Given the description of an element on the screen output the (x, y) to click on. 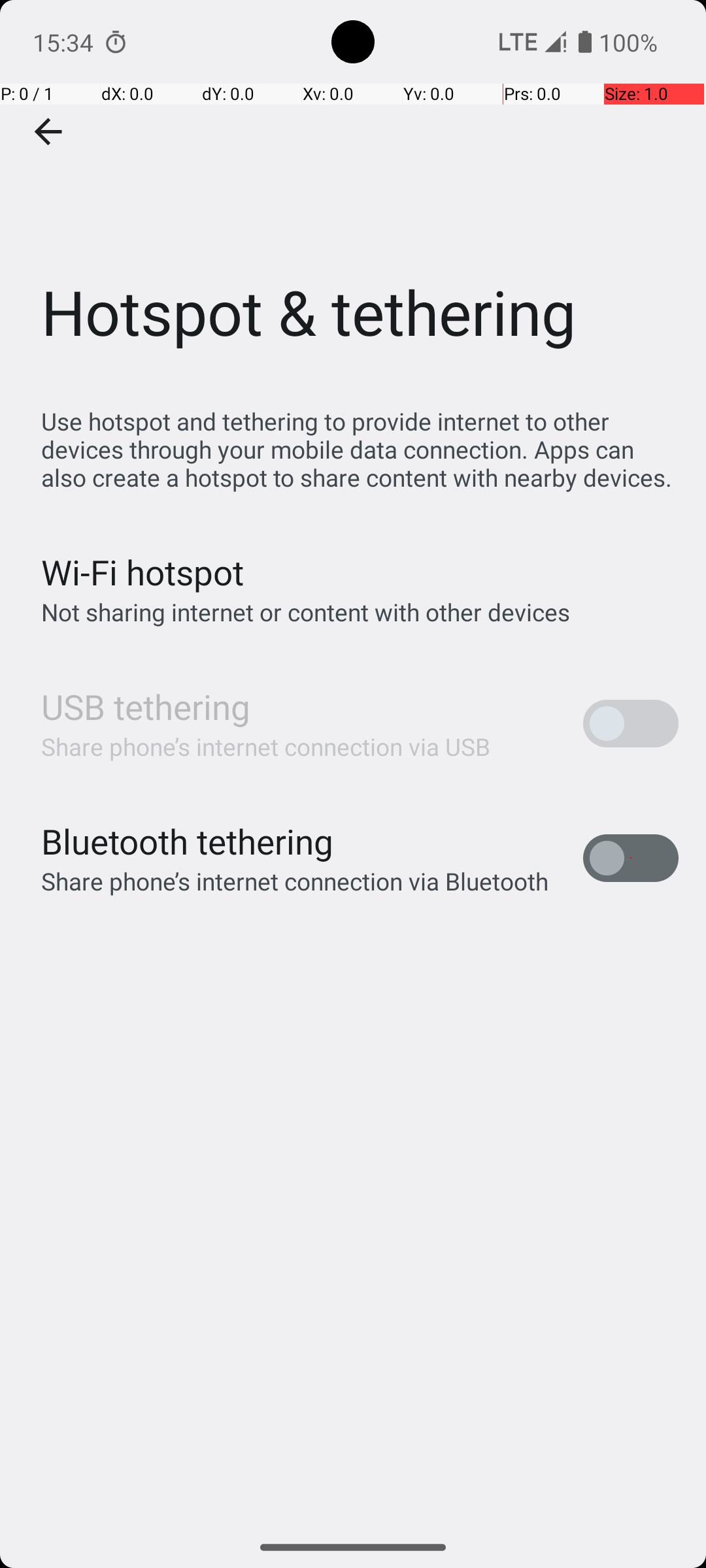
Use hotspot and tethering to provide internet to other devices through your mobile data connection. Apps can also create a hotspot to share content with nearby devices. Element type: android.widget.TextView (359, 448)
Wi‑Fi hotspot Element type: android.widget.TextView (142, 571)
Not sharing internet or content with other devices Element type: android.widget.TextView (305, 611)
USB tethering Element type: android.widget.TextView (145, 706)
Share phone’s internet connection via USB Element type: android.widget.TextView (265, 746)
Bluetooth tethering Element type: android.widget.TextView (187, 840)
Share phone’s internet connection via Bluetooth Element type: android.widget.TextView (294, 880)
